Given the description of an element on the screen output the (x, y) to click on. 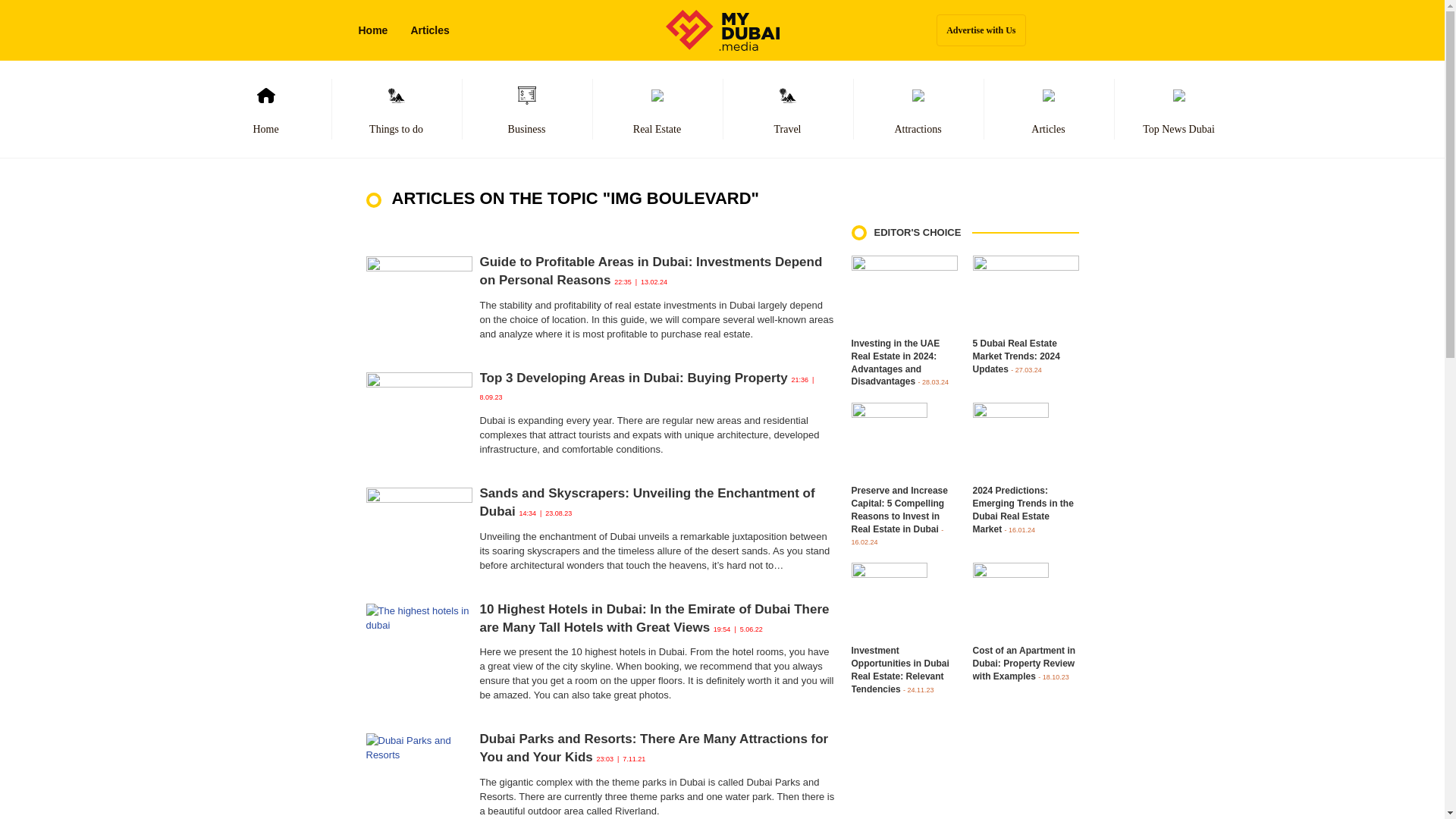
Advertise with Us (980, 29)
Top News Dubai (1178, 108)
Top 3 Developing Areas in Dubai: Buying Property (633, 378)
Home (265, 108)
Attractions (916, 108)
Articles (429, 30)
Business (526, 108)
Sands and Skyscrapers: Unveiling the Enchantment of Dubai (646, 502)
Real Estate (656, 108)
Articles (1047, 108)
Things to do (395, 108)
Travel (786, 108)
